Given the description of an element on the screen output the (x, y) to click on. 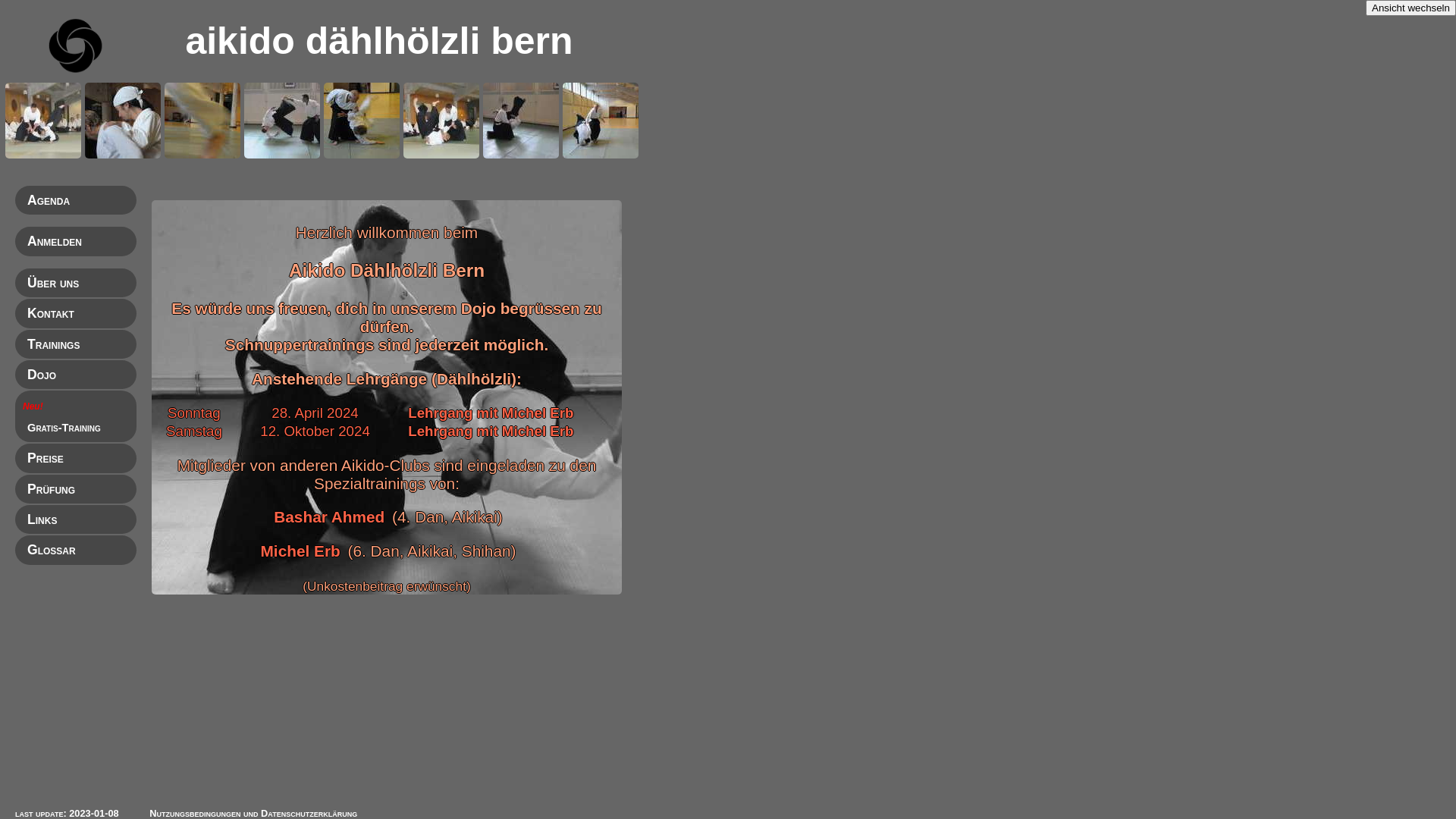
Dojo Element type: text (41, 374)
Lehrgang mit Michel Erb Element type: text (490, 412)
Lehrgang mit Michel Erb Element type: text (490, 430)
Anmelden Element type: text (54, 241)
Samstag Element type: text (193, 430)
Glossar Element type: text (51, 549)
Sonntag Element type: text (194, 412)
Michel Erb Element type: text (300, 550)
Links Element type: text (41, 519)
Gratis-Training Element type: text (63, 427)
Preise Element type: text (45, 457)
Trainings Element type: text (53, 344)
28. April 2024 Element type: text (314, 412)
12. Oktober 2024 Element type: text (314, 430)
Bashar Ahmed Element type: text (328, 516)
Kontakt Element type: text (50, 313)
Agenda Element type: text (48, 200)
